Given the description of an element on the screen output the (x, y) to click on. 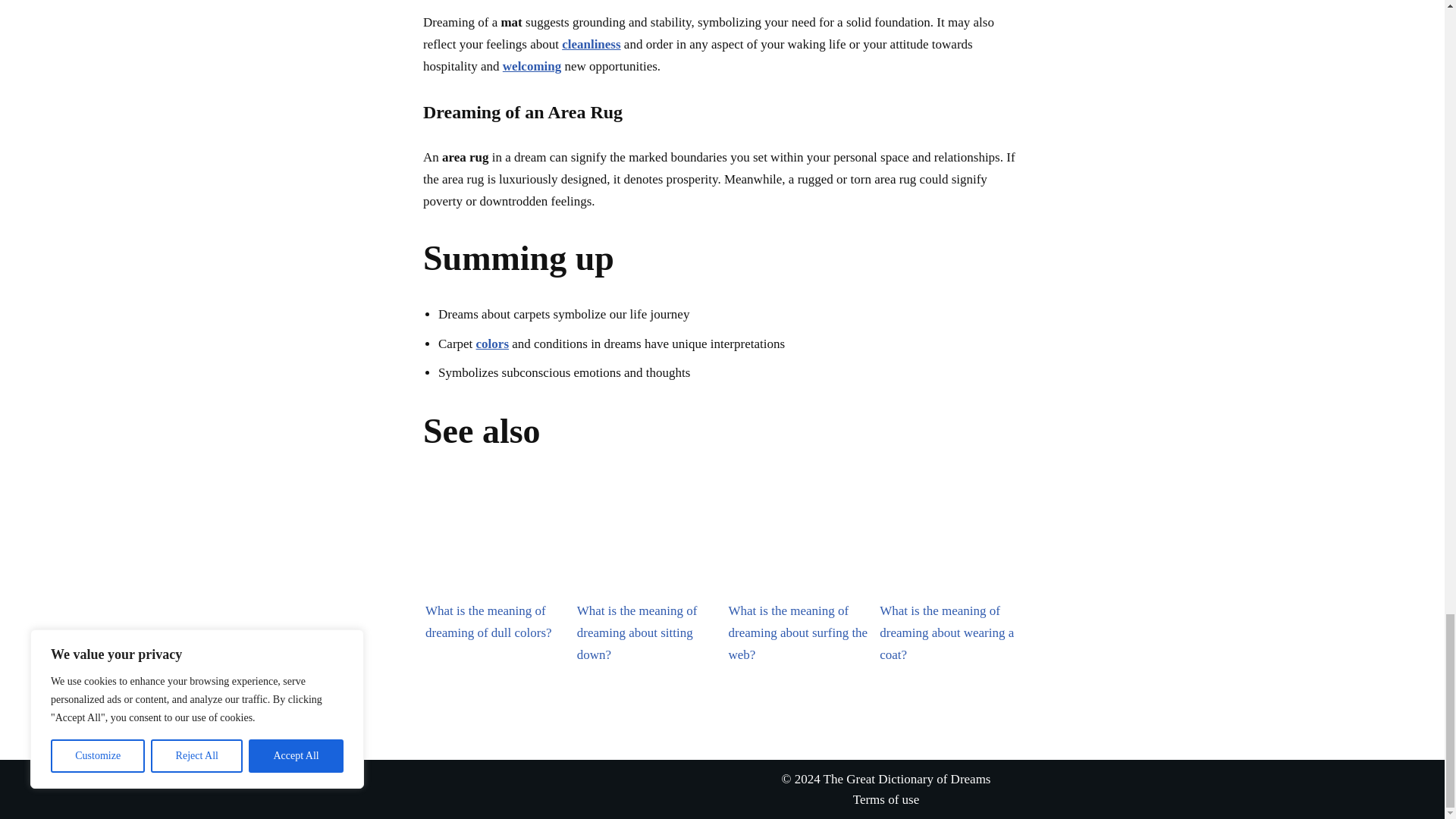
What is the meaning of dreaming about wearing a coat? (949, 543)
What is the meaning of dreaming of dull colors? (494, 543)
What is the meaning of dreaming about surfing the web? (797, 543)
What is the meaning of dreaming about sitting down? (646, 543)
